Given the description of an element on the screen output the (x, y) to click on. 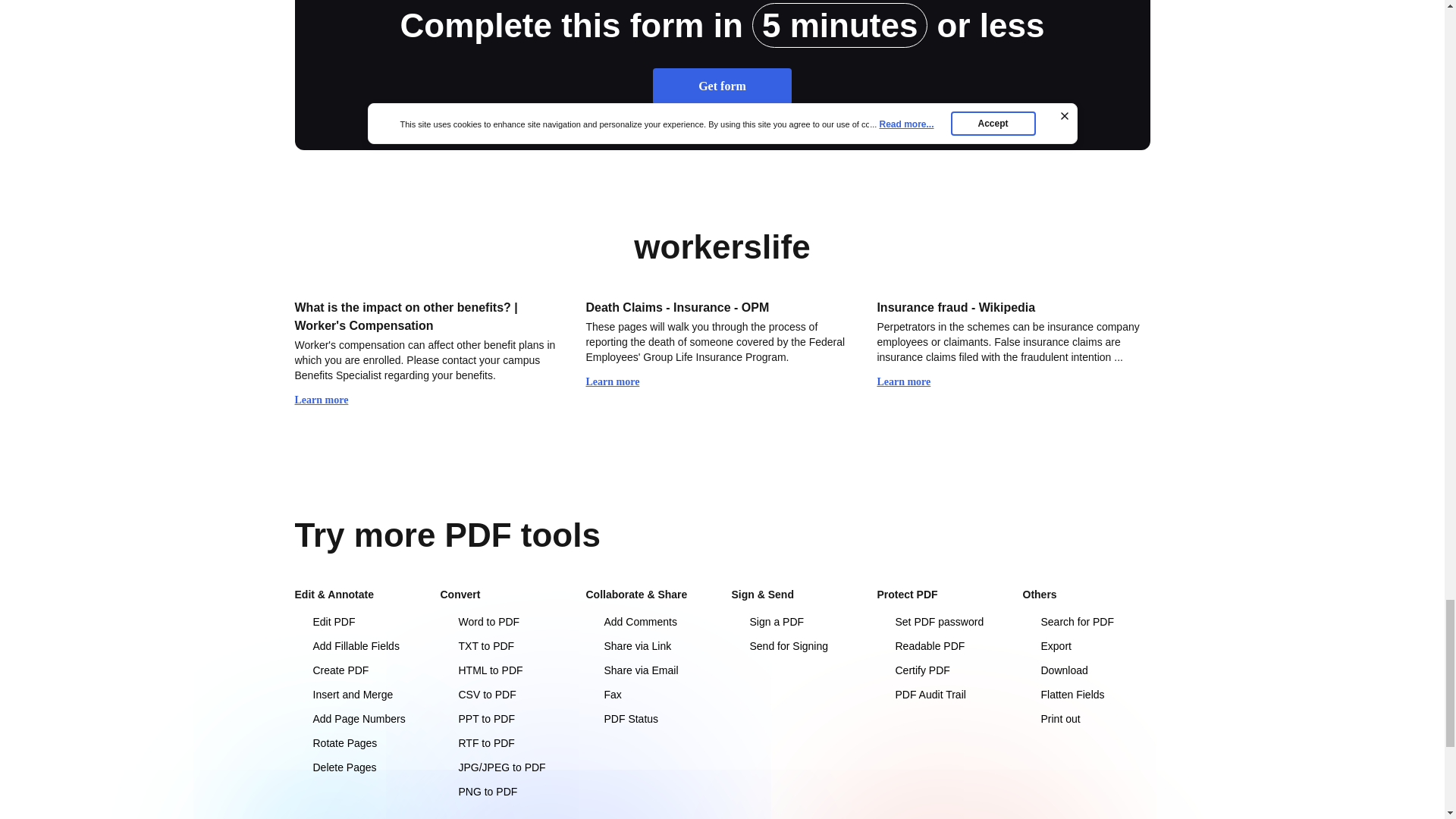
Get form (722, 86)
Rotate Pages (358, 743)
Create PDF (358, 670)
Delete Pages (358, 767)
Add Fillable Fields (358, 645)
Insert and Merge (358, 694)
Edit PDF (358, 621)
Learn more (327, 400)
Add Page Numbers (358, 718)
Learn more (909, 381)
